Given the description of an element on the screen output the (x, y) to click on. 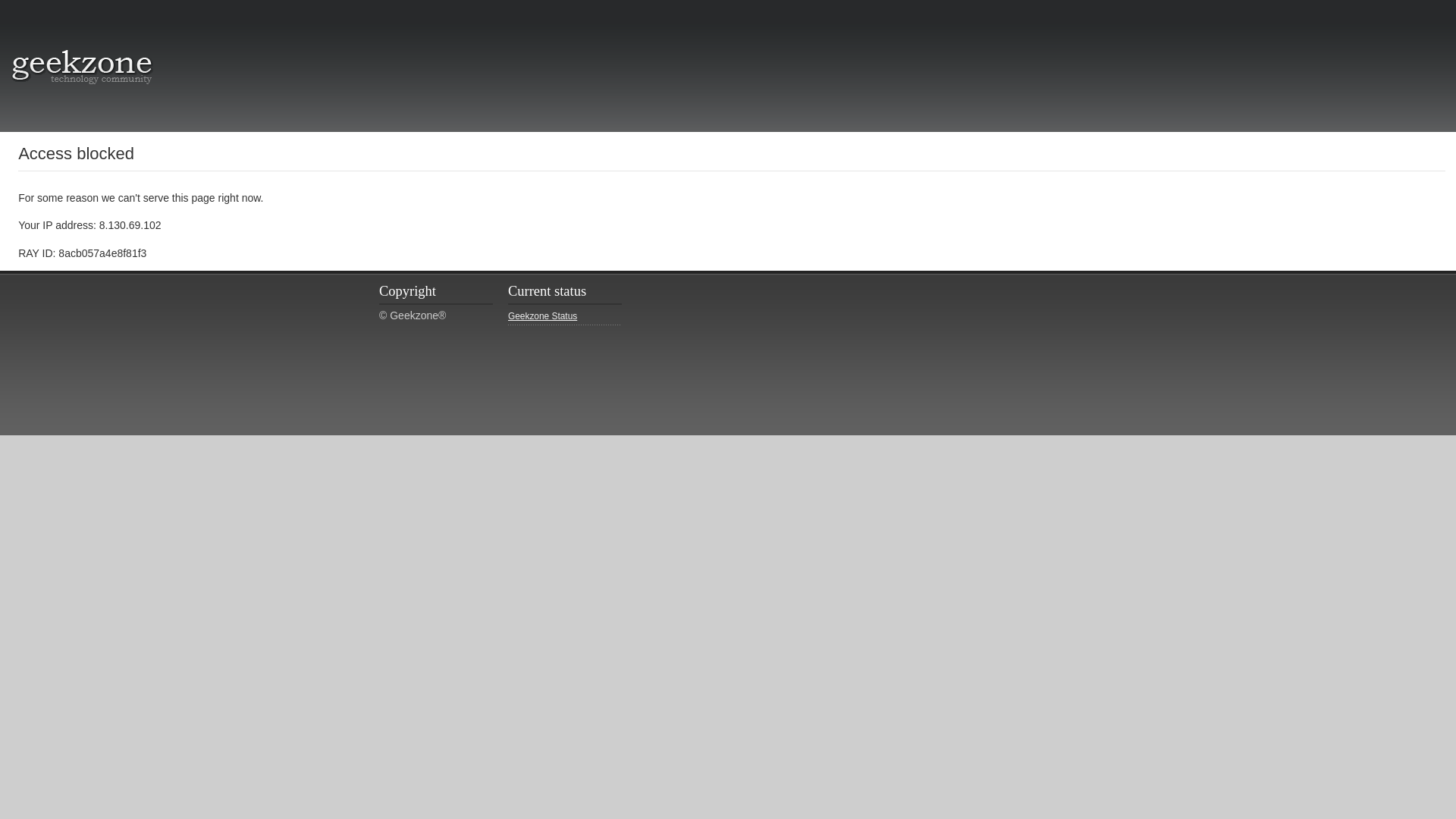
Geekzone Status (564, 316)
